Given the description of an element on the screen output the (x, y) to click on. 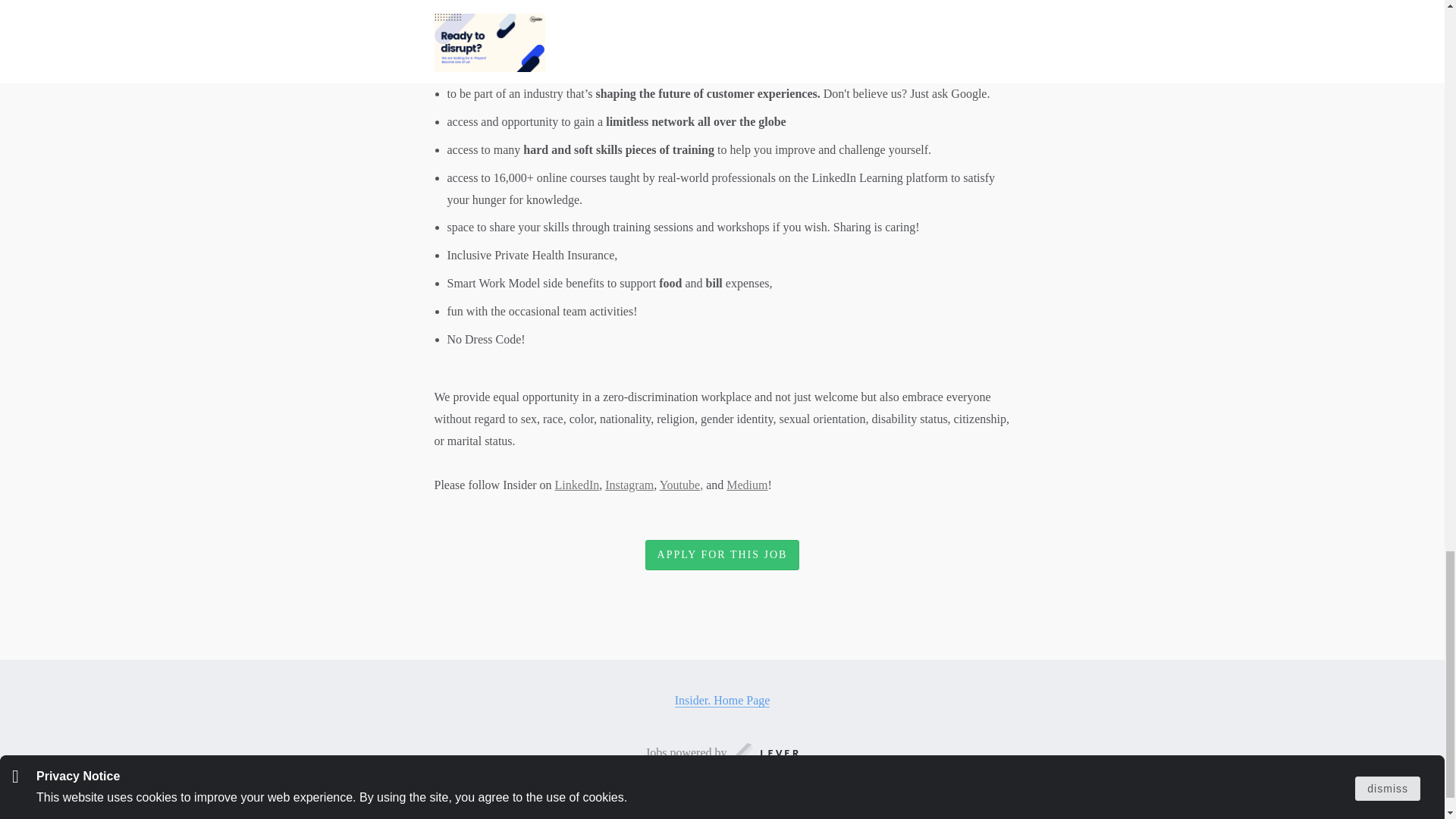
Insider. Home Page (722, 700)
APPLY FOR THIS JOB (722, 554)
Medium (746, 484)
Youtube, (681, 484)
Jobs powered by (722, 753)
LinkedIn (576, 484)
Instagram (629, 484)
